Given the description of an element on the screen output the (x, y) to click on. 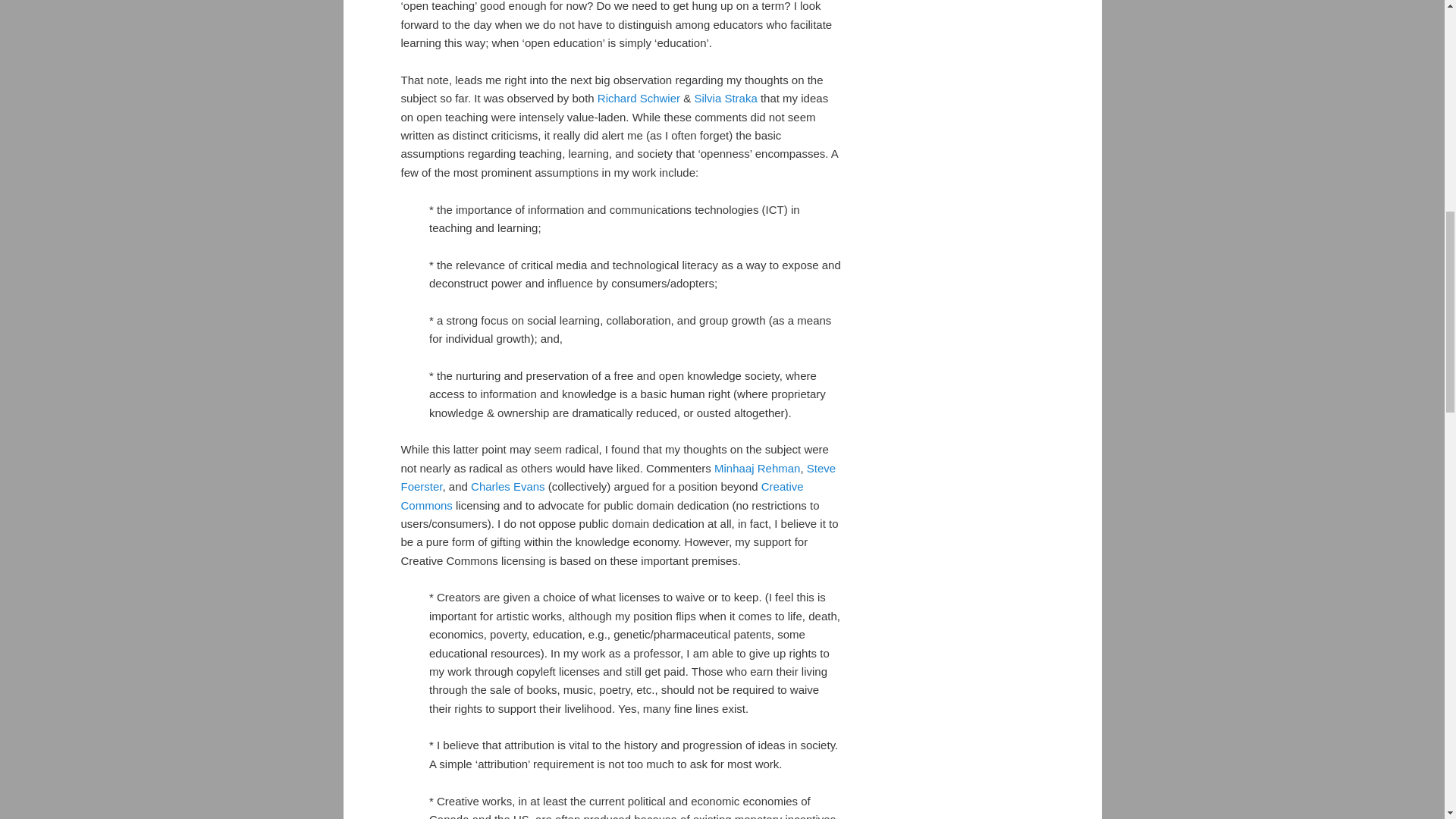
Minhaaj Rehman (756, 468)
Silvia Straka (725, 97)
Charles Evans (507, 486)
Creative Commons (601, 495)
Steve Foerster (617, 477)
Richard Schwier (637, 97)
